Given the description of an element on the screen output the (x, y) to click on. 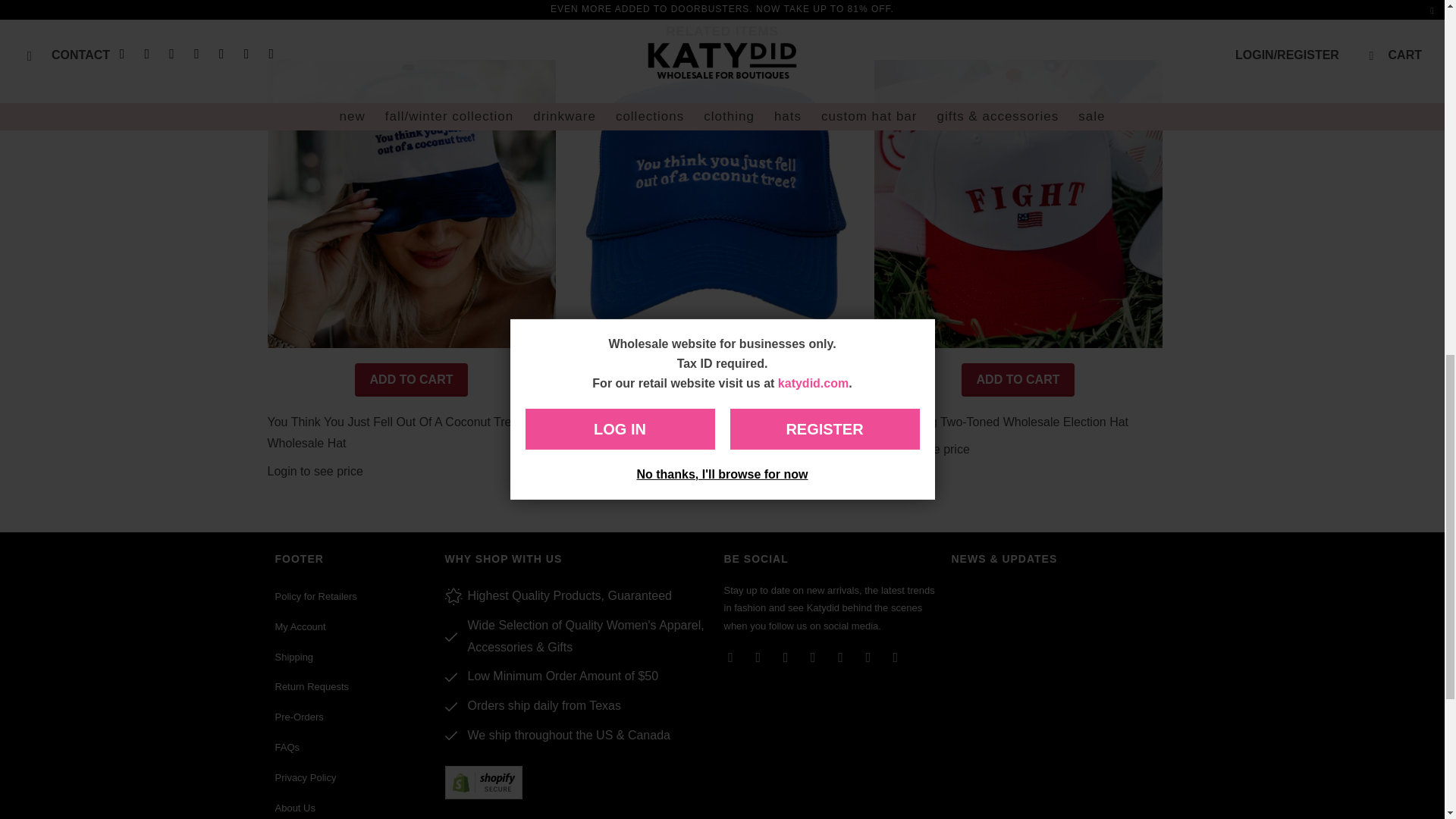
Add to cart (411, 379)
Add to cart (1017, 379)
Add to cart (714, 379)
